Given the description of an element on the screen output the (x, y) to click on. 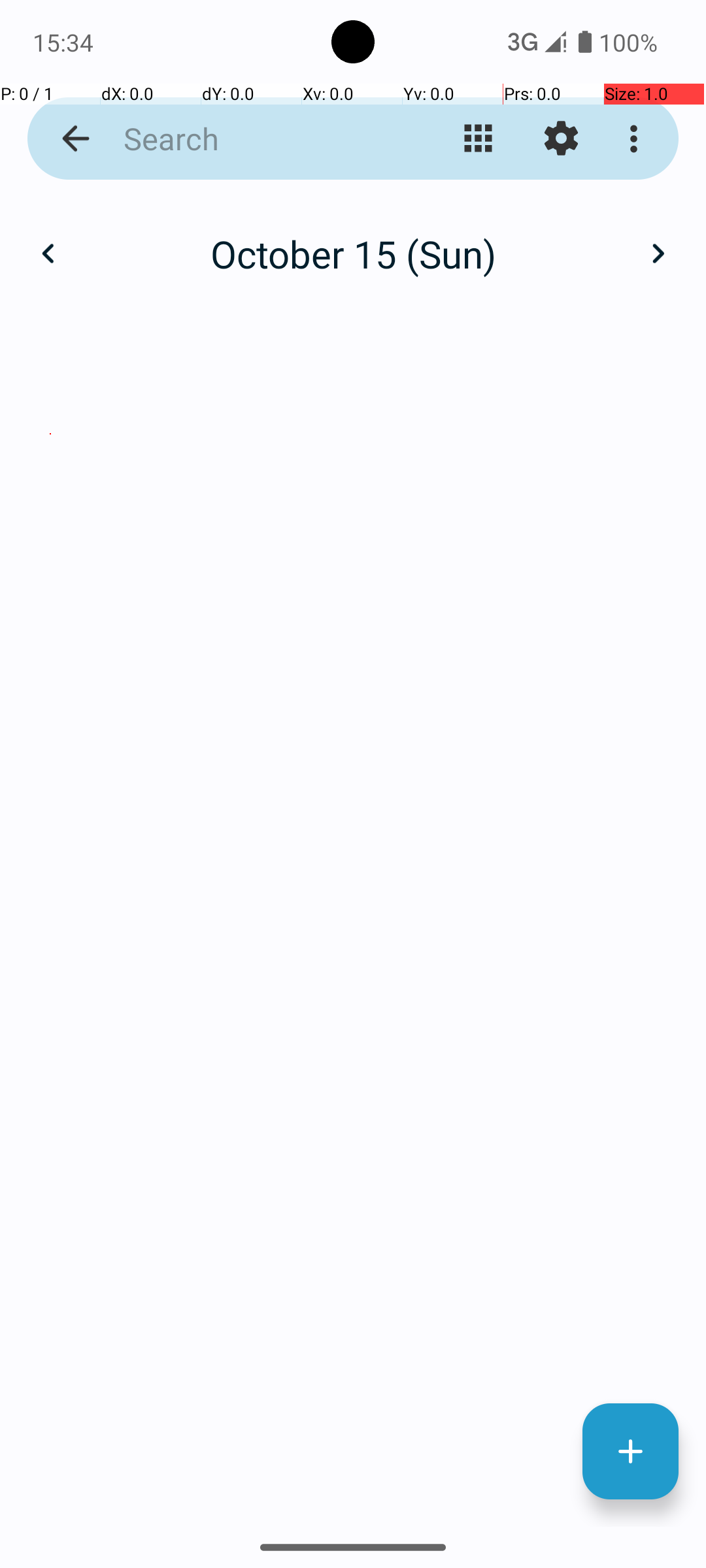
October 15 (Sun) Element type: android.widget.TextView (352, 253)
